Given the description of an element on the screen output the (x, y) to click on. 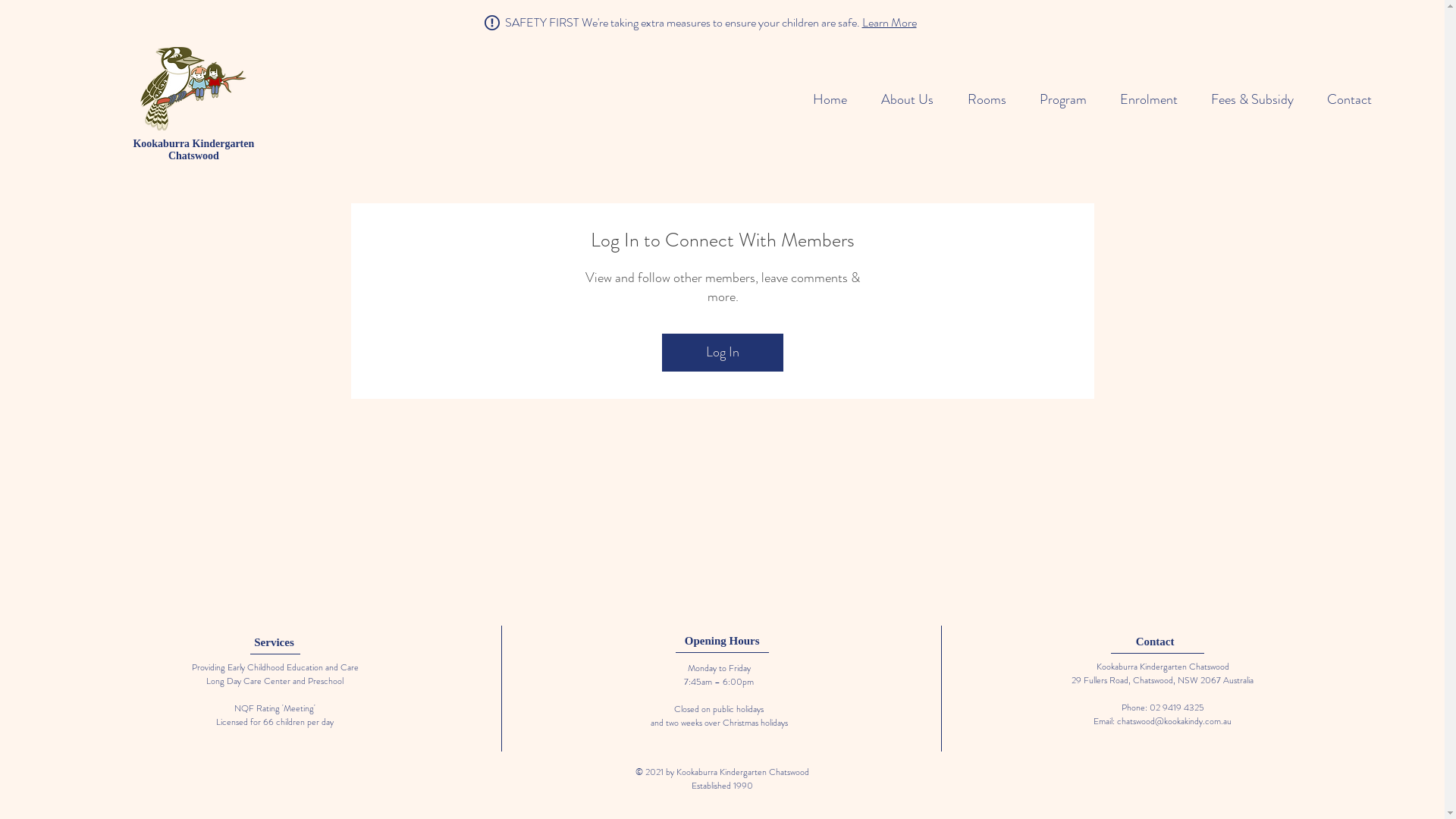
kookaburra-bird2.png Element type: hover (193, 88)
Learn More Element type: text (888, 22)
Members Element type: hover (721, 300)
Home Element type: text (824, 99)
Program Element type: text (1057, 99)
Contact Element type: text (1344, 99)
Enrolment Element type: text (1143, 99)
chatswood@kookakindy.com.au Element type: text (1174, 721)
Rooms Element type: text (980, 99)
Kookaburra Kindergarten Element type: text (193, 143)
Fees & Subsidy Element type: text (1247, 99)
About Us Element type: text (901, 99)
